Given the description of an element on the screen output the (x, y) to click on. 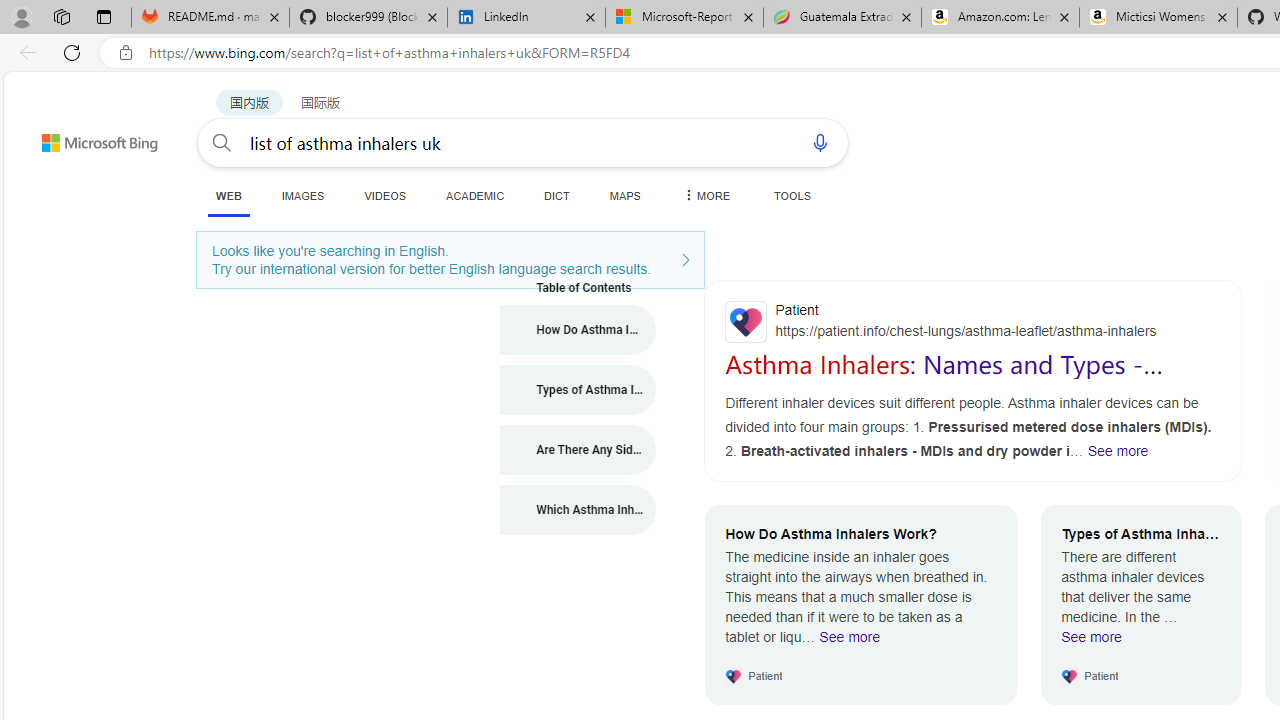
IMAGES (302, 195)
MORE (705, 195)
IMAGES (302, 195)
Back to Bing search (87, 138)
WEB (228, 195)
Search using voice (820, 142)
Dropdown Menu (705, 195)
LinkedIn (526, 17)
MAPS (624, 195)
Are There Any Side-Effects from Asthma Inhalers? (578, 449)
DICT (557, 195)
